Given the description of an element on the screen output the (x, y) to click on. 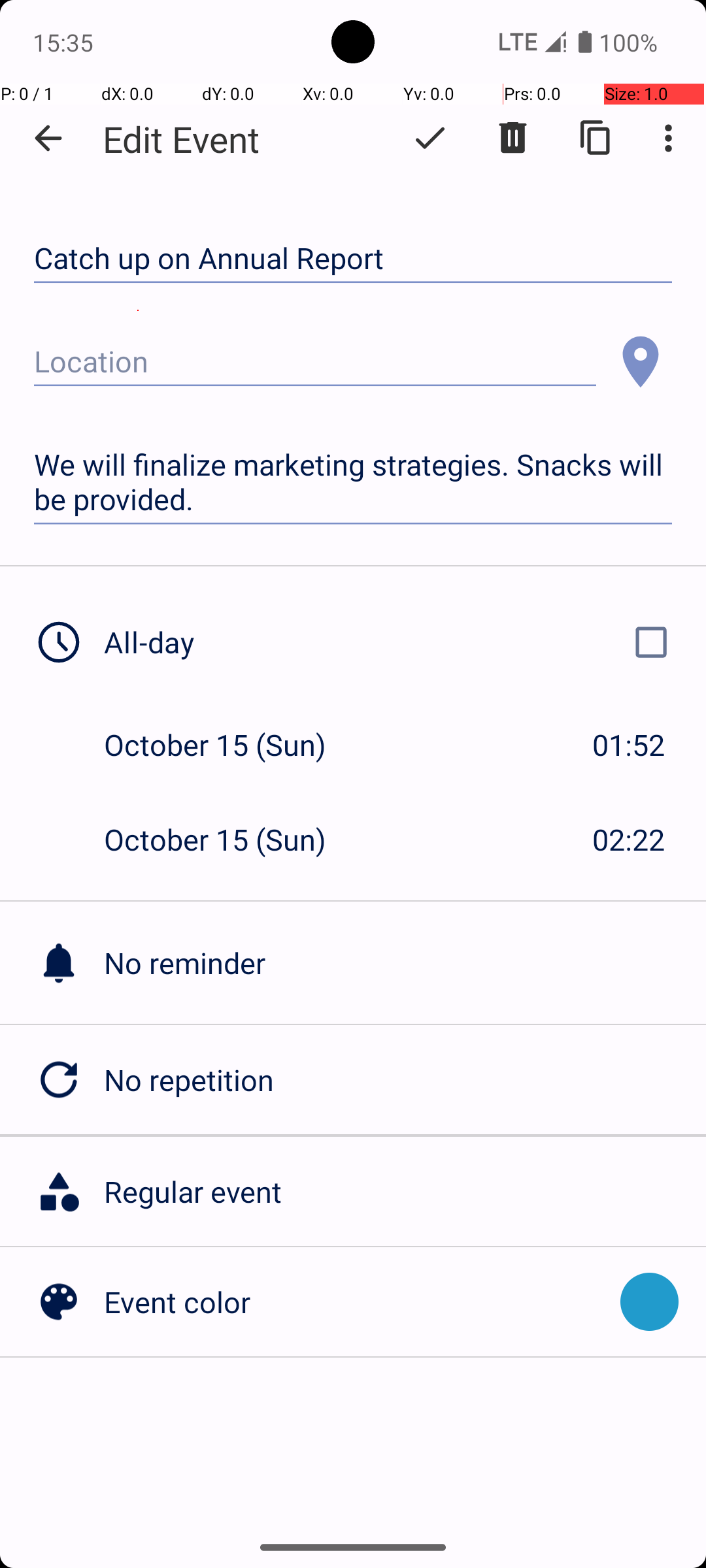
We will finalize marketing strategies. Snacks will be provided. Element type: android.widget.EditText (352, 482)
01:52 Element type: android.widget.TextView (628, 744)
02:22 Element type: android.widget.TextView (628, 838)
